Given the description of an element on the screen output the (x, y) to click on. 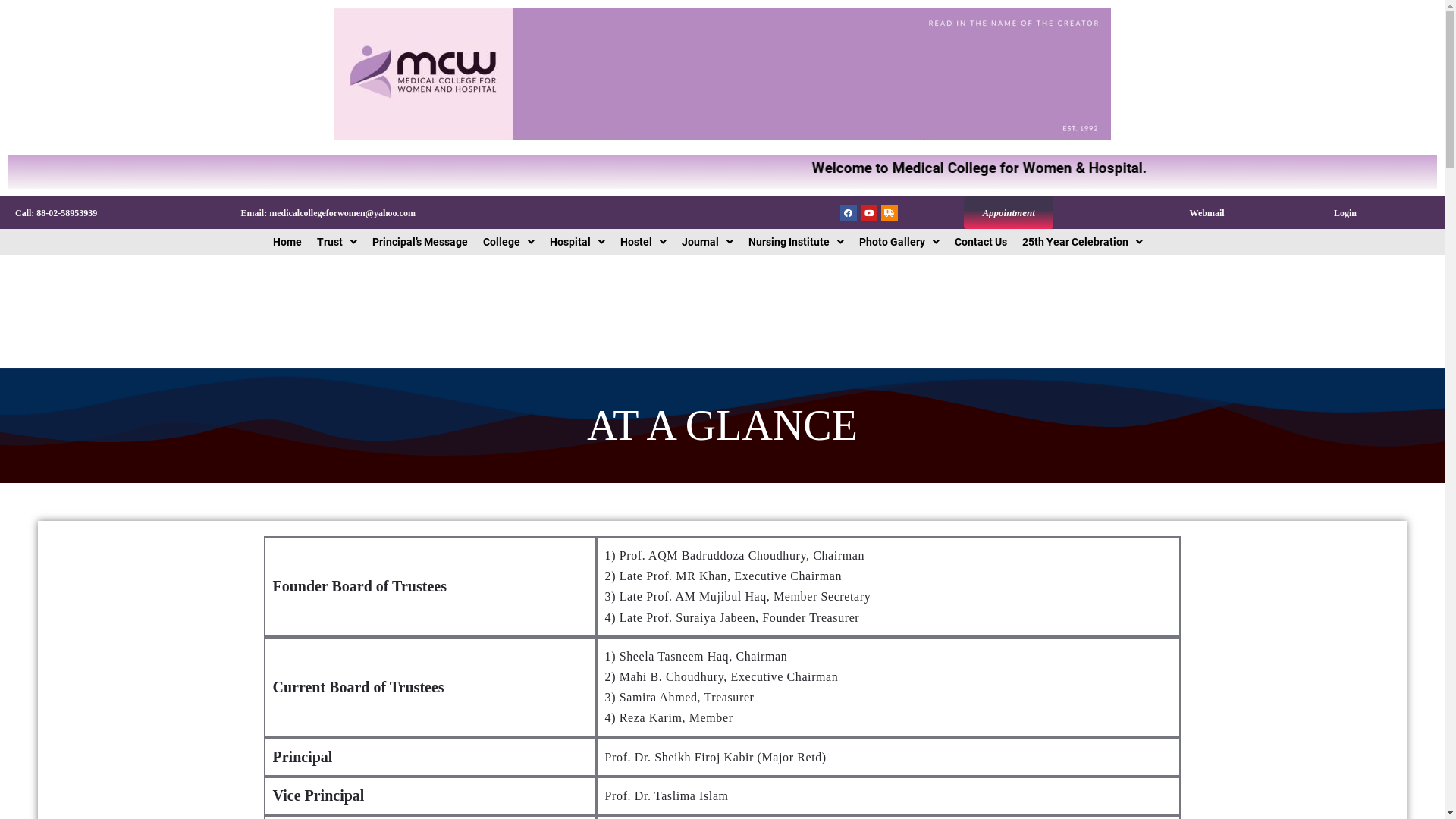
Login Element type: text (1345, 212)
Appointment Element type: text (1007, 212)
Webmail Element type: text (1207, 212)
College Element type: text (508, 241)
25th Year Celebration Element type: text (1082, 241)
Home Element type: text (287, 241)
Hospital Element type: text (577, 241)
Journal Element type: text (707, 241)
Hostel Element type: text (643, 241)
Email: medicalcollegeforwomen@yahoo.com Element type: text (327, 212)
Photo Gallery Element type: text (899, 241)
Trust Element type: text (336, 241)
Nursing Institute Element type: text (795, 241)
Call: 88-02-58953939 Element type: text (56, 212)
Contact Us Element type: text (980, 241)
